Given the description of an element on the screen output the (x, y) to click on. 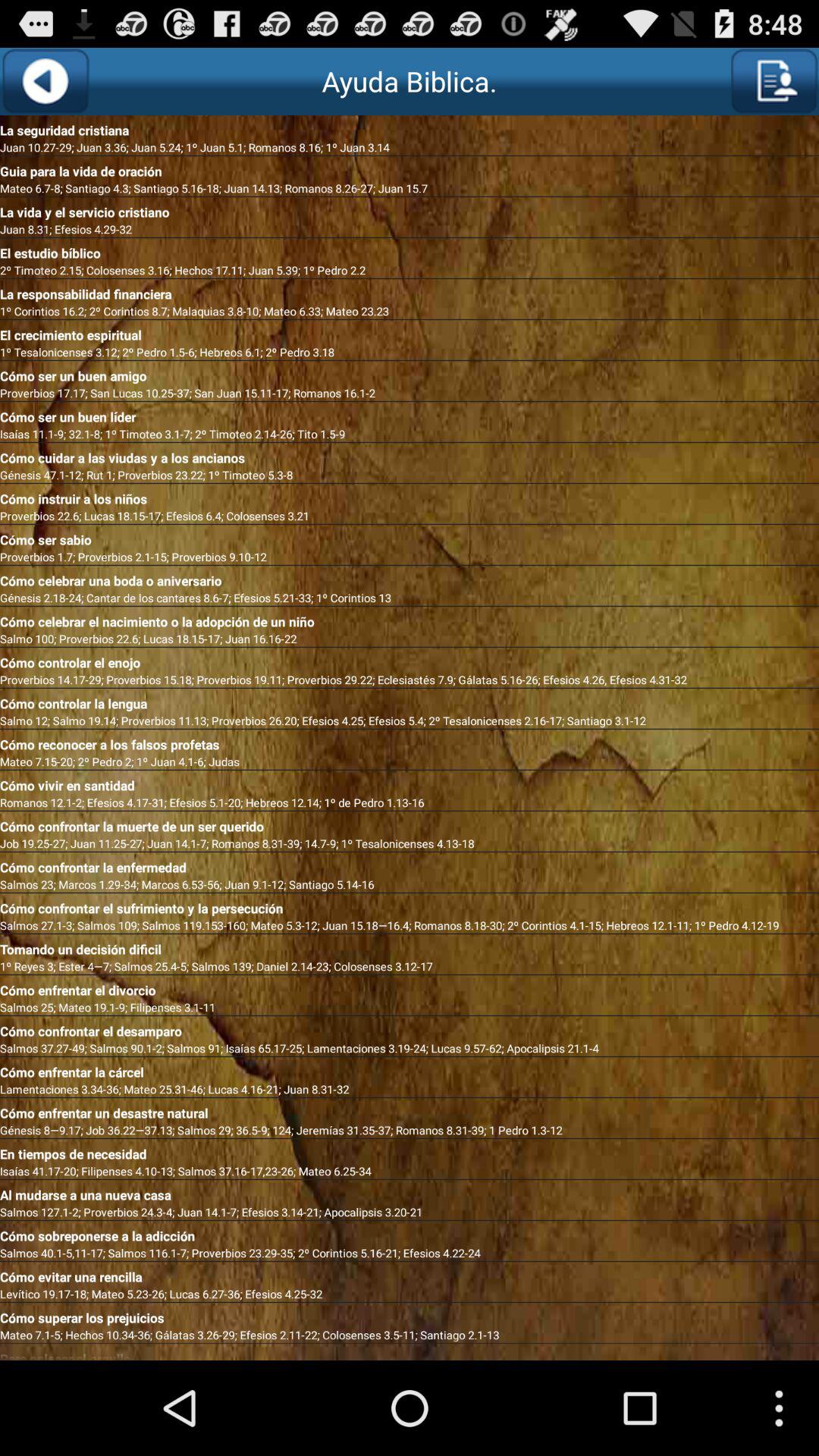
turn on the item to the right of the ayuda biblica. app (773, 81)
